Given the description of an element on the screen output the (x, y) to click on. 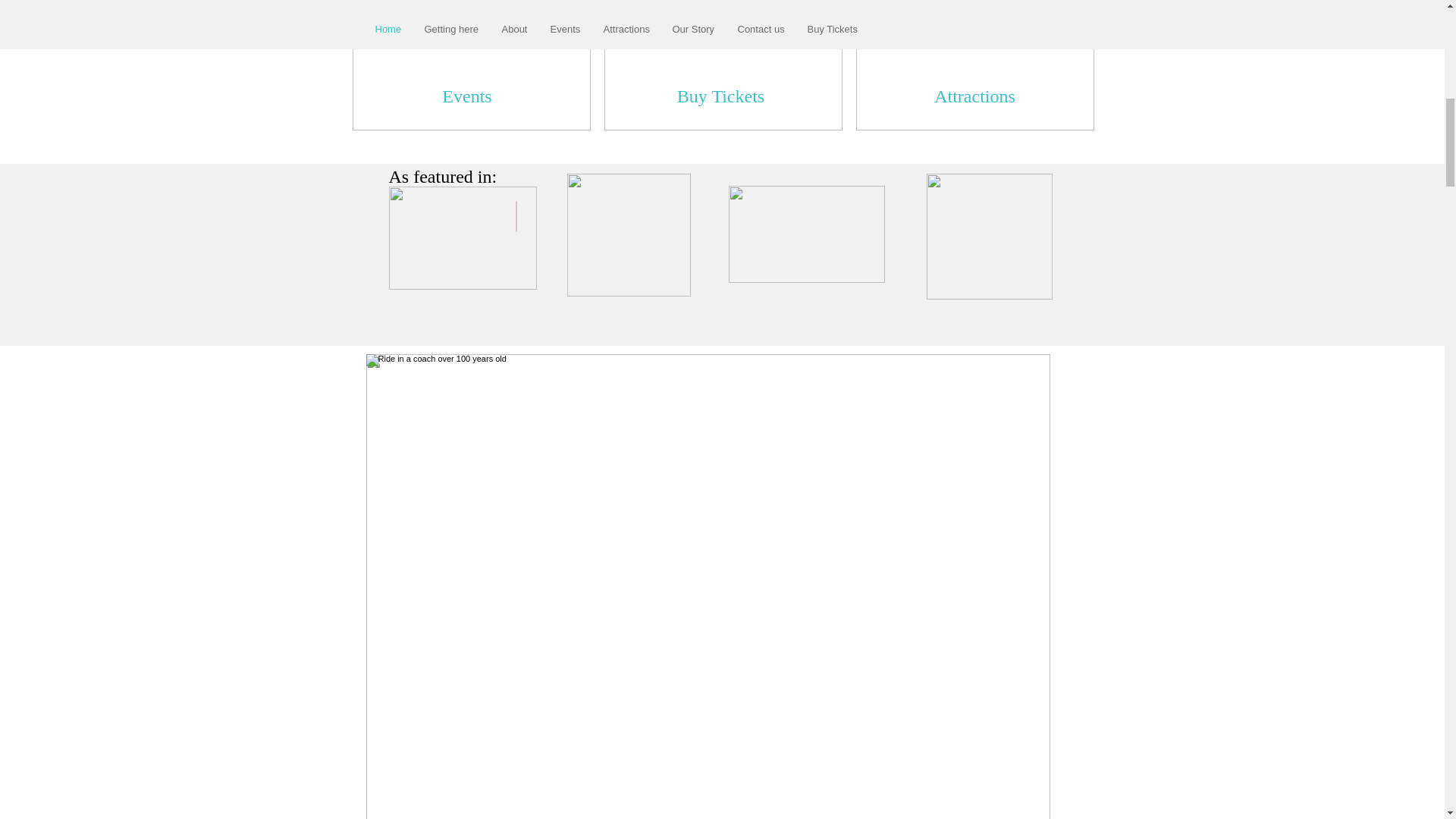
Attractions (974, 96)
Events (467, 96)
Buy Tickets (721, 96)
